Given the description of an element on the screen output the (x, y) to click on. 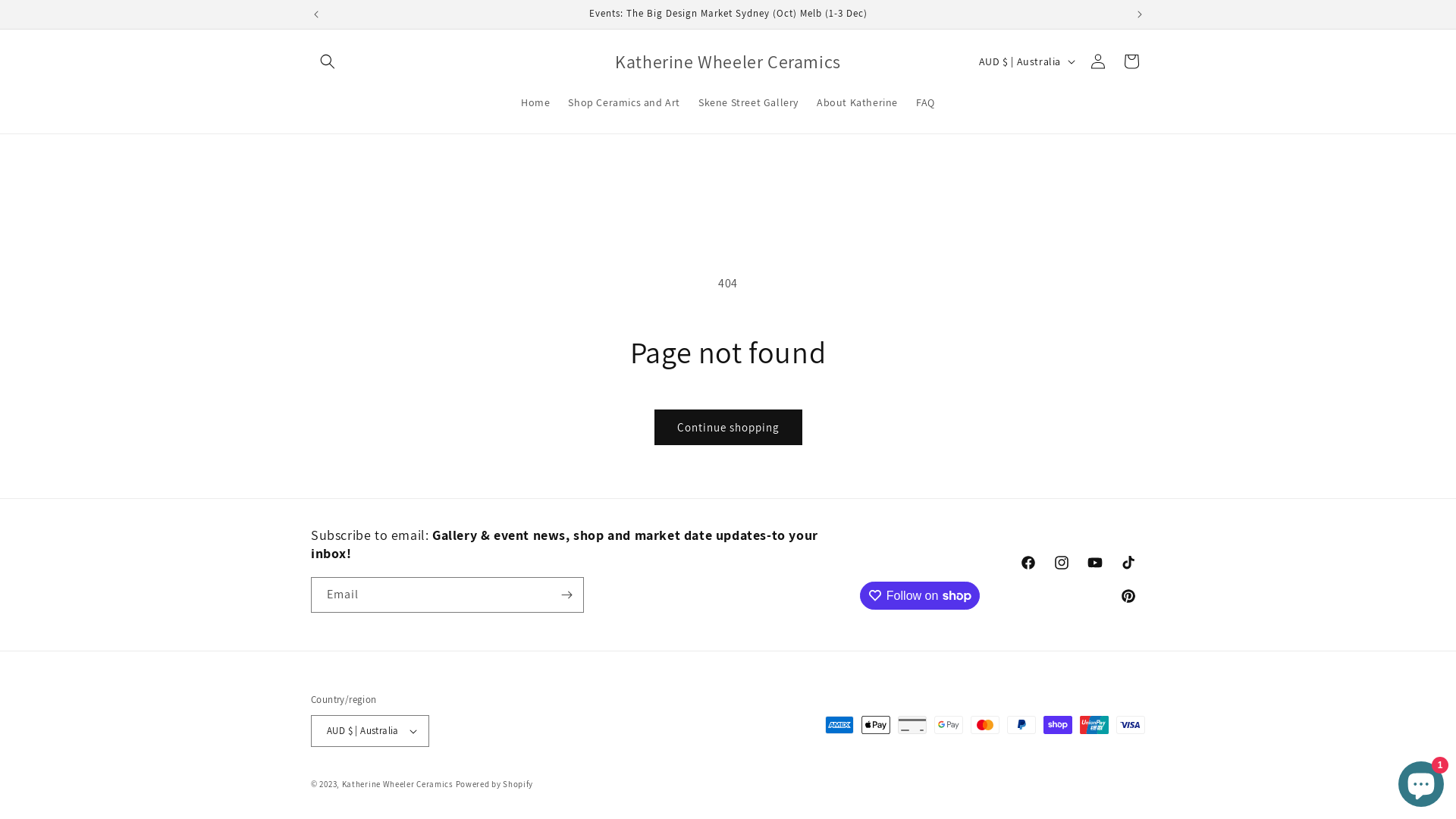
Cart Element type: text (1131, 61)
Powered by Shopify Element type: text (494, 783)
Facebook Element type: text (1027, 562)
Shopify online store chat Element type: hover (1420, 780)
YouTube Element type: text (1094, 562)
Katherine Wheeler Ceramics Element type: text (397, 783)
FAQ Element type: text (925, 102)
Skene Street Gallery Element type: text (748, 102)
Instagram Element type: text (1061, 562)
About Katherine Element type: text (856, 102)
AUD $ | Australia Element type: text (1025, 61)
Home Element type: text (534, 102)
Pinterest Element type: text (1128, 595)
Katherine Wheeler Ceramics Element type: text (728, 61)
Log in Element type: text (1097, 61)
Shop Ceramics and Art Element type: text (623, 102)
AUD $ | Australia Element type: text (369, 730)
TikTok Element type: text (1128, 562)
Continue shopping Element type: text (727, 427)
